Given the description of an element on the screen output the (x, y) to click on. 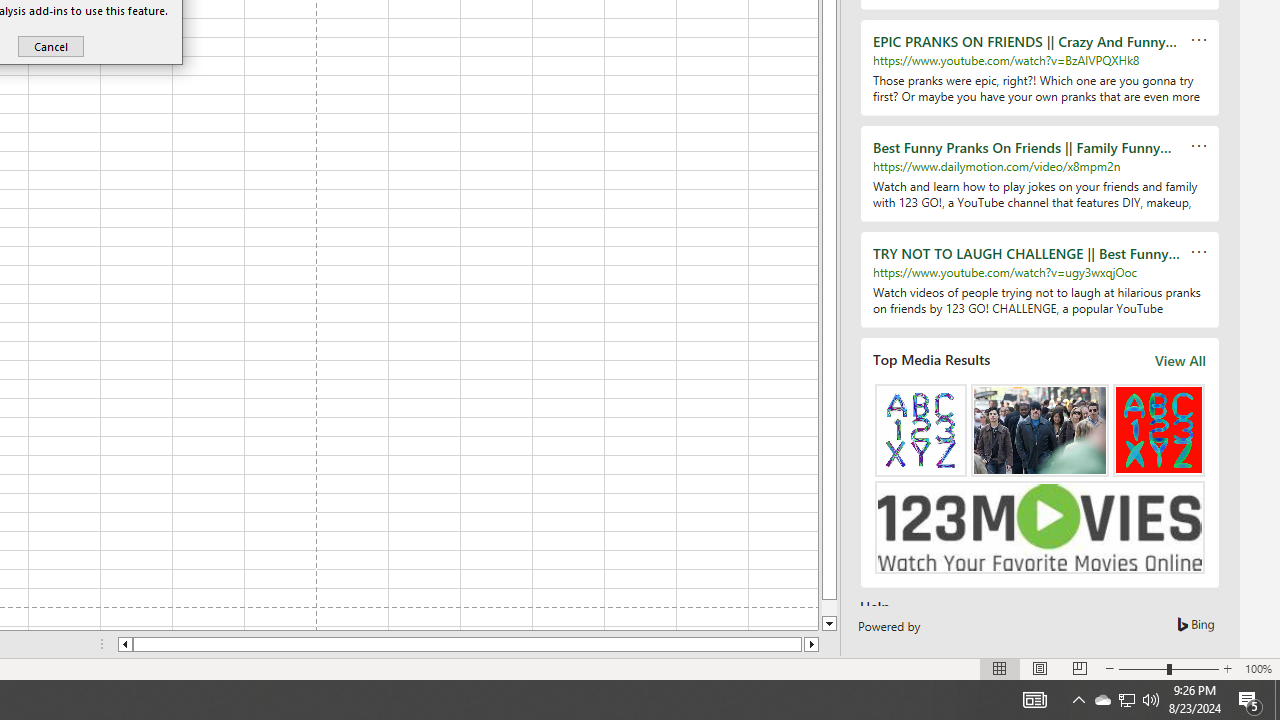
AutomationID: 4105 (1034, 699)
User Promoted Notification Area (1126, 699)
Show desktop (1277, 699)
Notification Chevron (1078, 699)
Action Center, 5 new notifications (1250, 699)
